Given the description of an element on the screen output the (x, y) to click on. 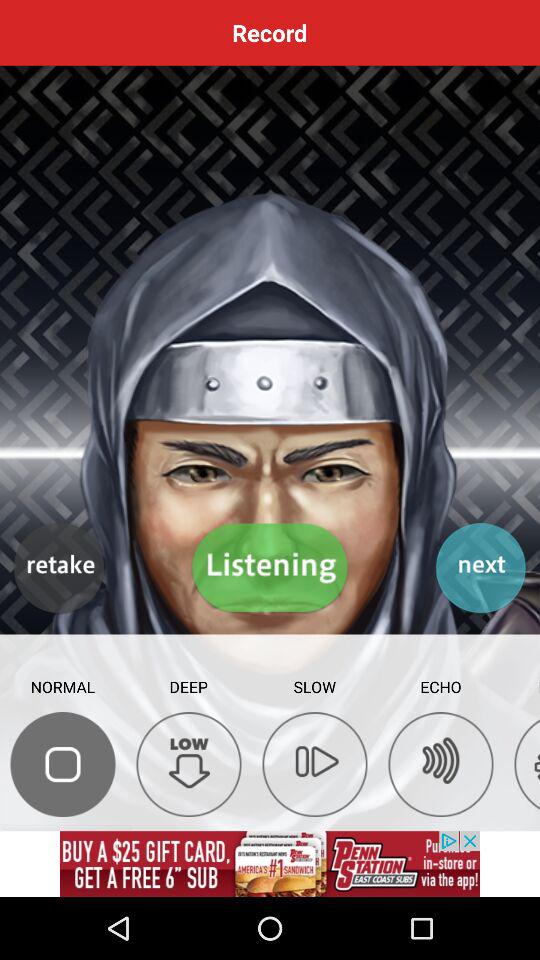
voice option button (62, 764)
